Given the description of an element on the screen output the (x, y) to click on. 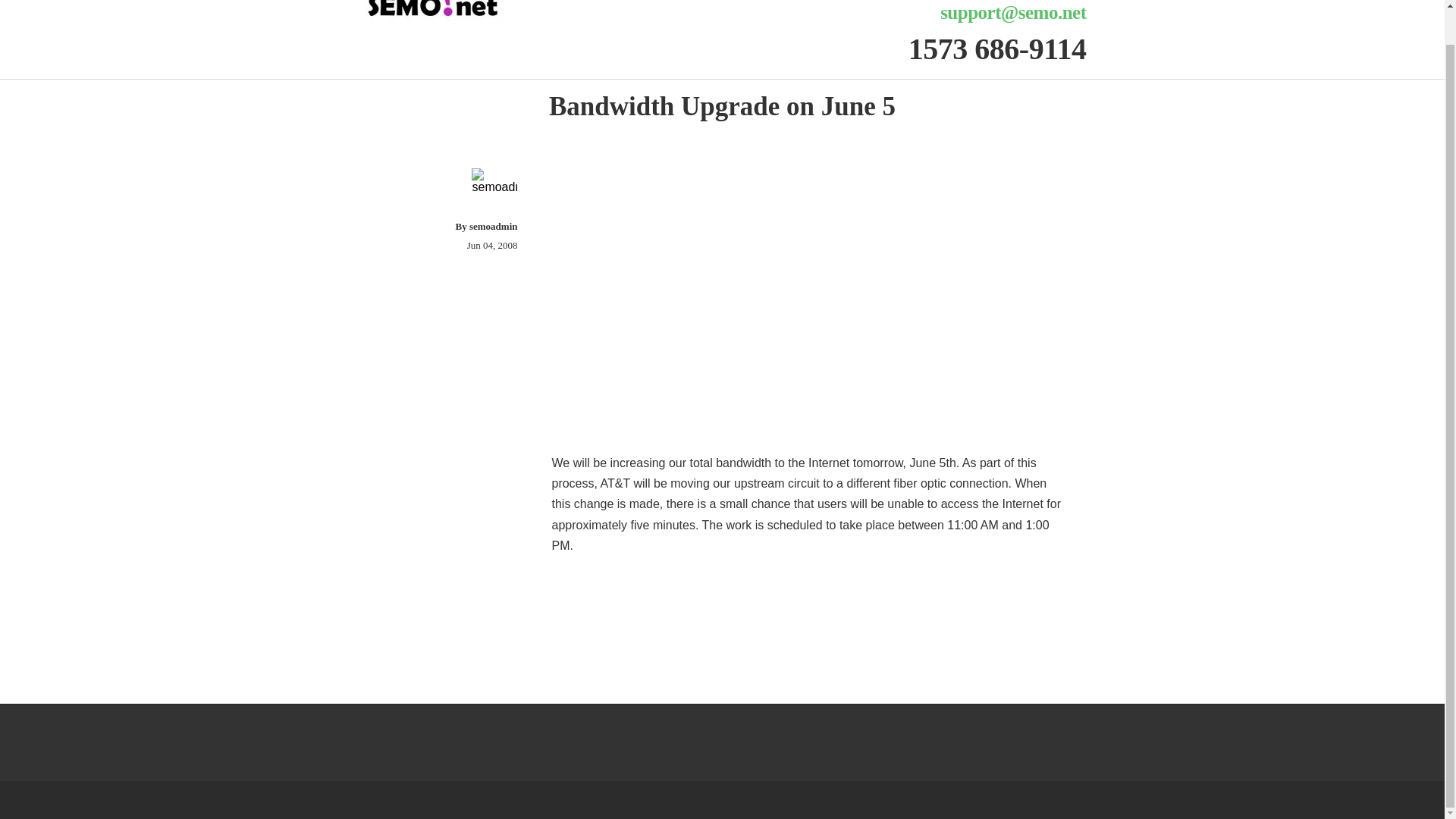
semoadmin (493, 225)
